Given the description of an element on the screen output the (x, y) to click on. 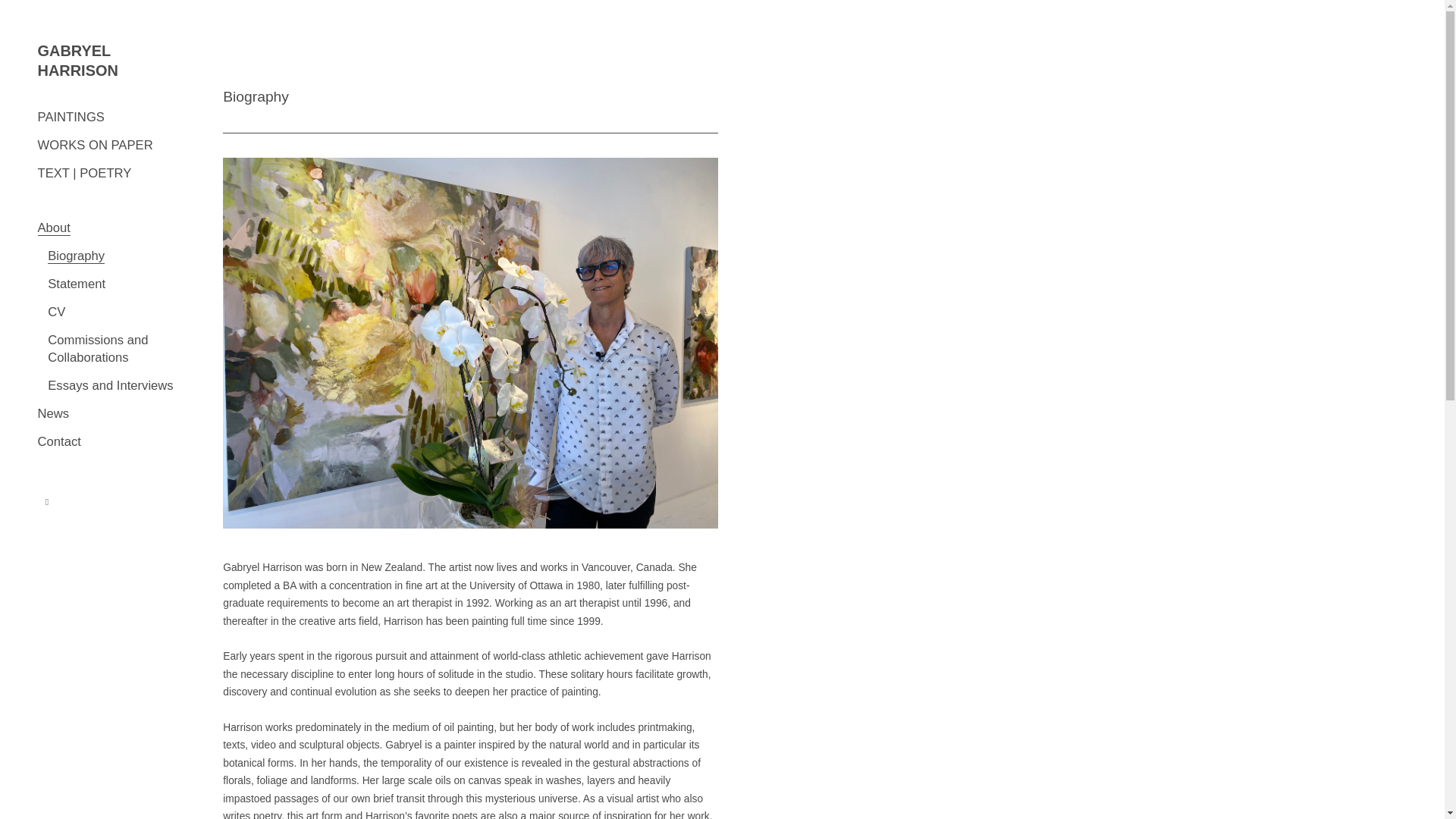
WORKS ON PAPER (94, 145)
Statement (76, 283)
CV (56, 311)
Page 1 (469, 688)
PAINTINGS (70, 116)
Biography (76, 255)
News (53, 413)
Commissions and Collaborations (98, 348)
GABRYEL HARRISON (116, 61)
Essays and Interviews (110, 385)
